Given the description of an element on the screen output the (x, y) to click on. 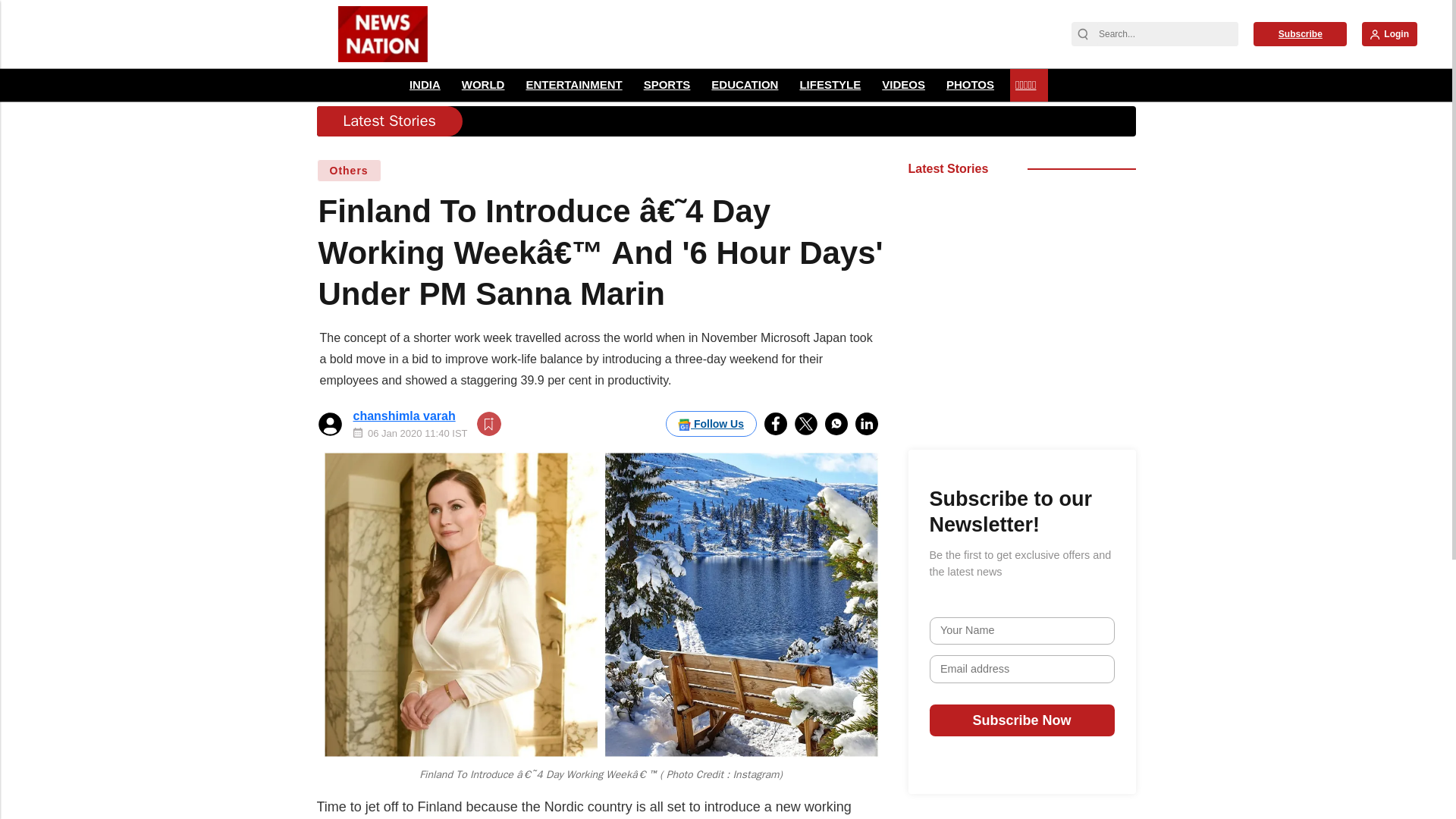
Subscribe (1299, 33)
INDIA (424, 84)
SPORTS (667, 84)
LIFESTYLE (829, 84)
chanshimla varah (404, 415)
Others (349, 169)
WORLD (484, 84)
Follow Us (711, 423)
PHOTOS (969, 84)
EDUCATION (744, 84)
